Given the description of an element on the screen output the (x, y) to click on. 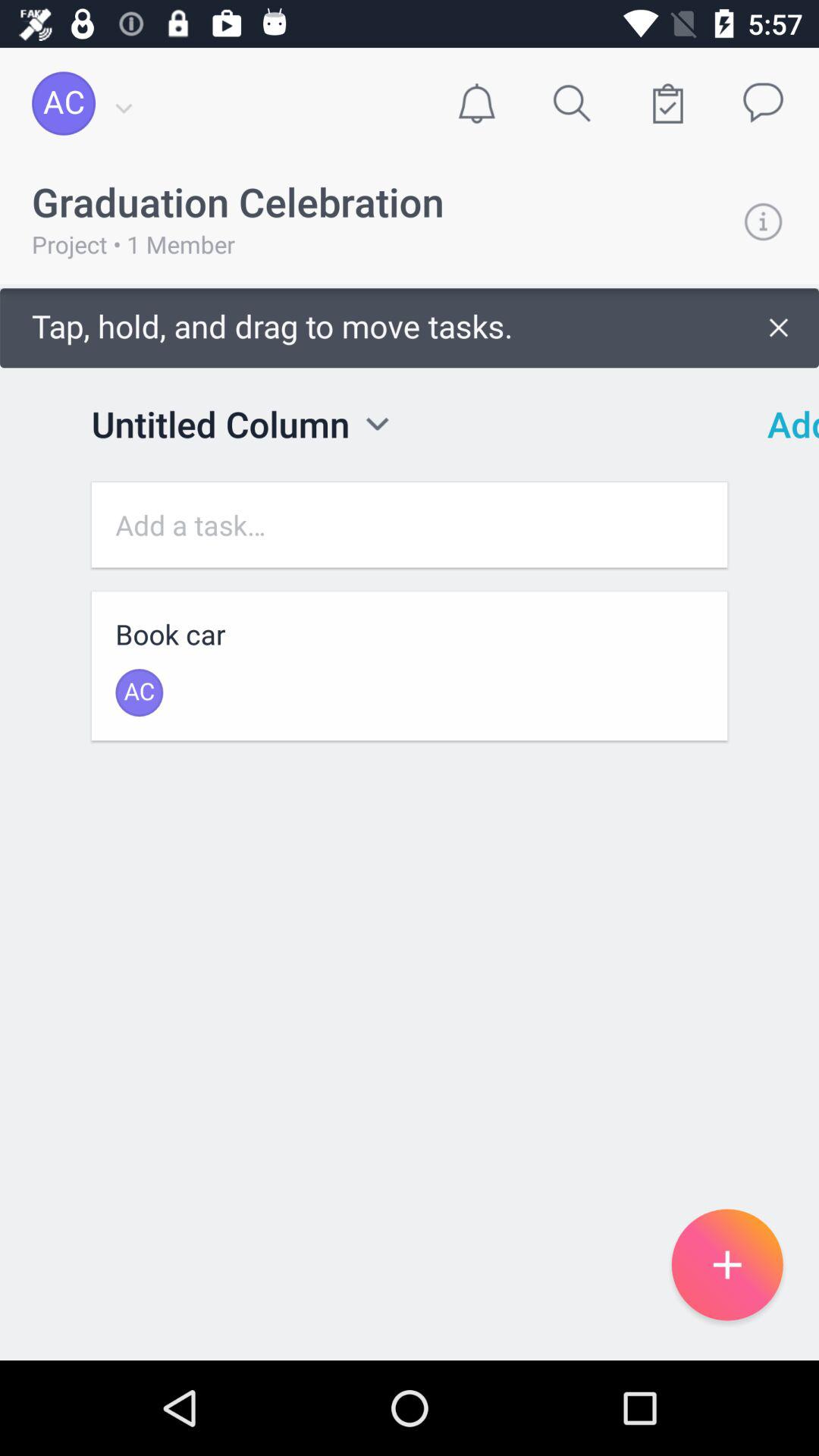
info (763, 221)
